Given the description of an element on the screen output the (x, y) to click on. 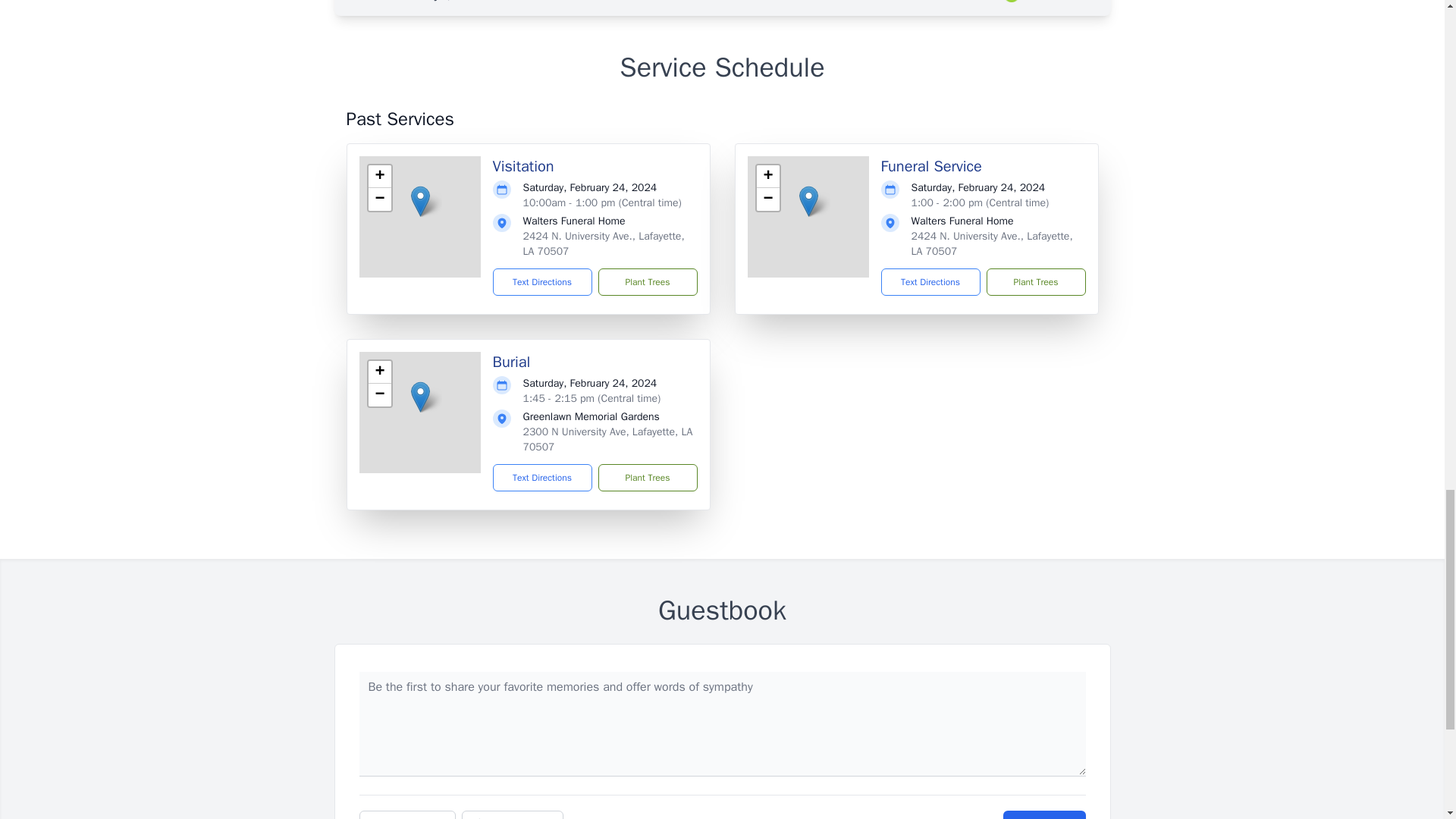
Plant Trees (646, 477)
Zoom in (767, 176)
2300 N University Ave, Lafayette, LA 70507 (607, 439)
Zoom in (379, 176)
Plant Trees (646, 281)
Text Directions (542, 281)
Zoom out (379, 395)
Zoom out (379, 199)
2424 N. University Ave., Lafayette, LA 70507 (603, 243)
Zoom out (767, 199)
Zoom in (379, 372)
Plant Trees (1034, 281)
Text Directions (929, 281)
Text Directions (542, 477)
2424 N. University Ave., Lafayette, LA 70507 (992, 243)
